Given the description of an element on the screen output the (x, y) to click on. 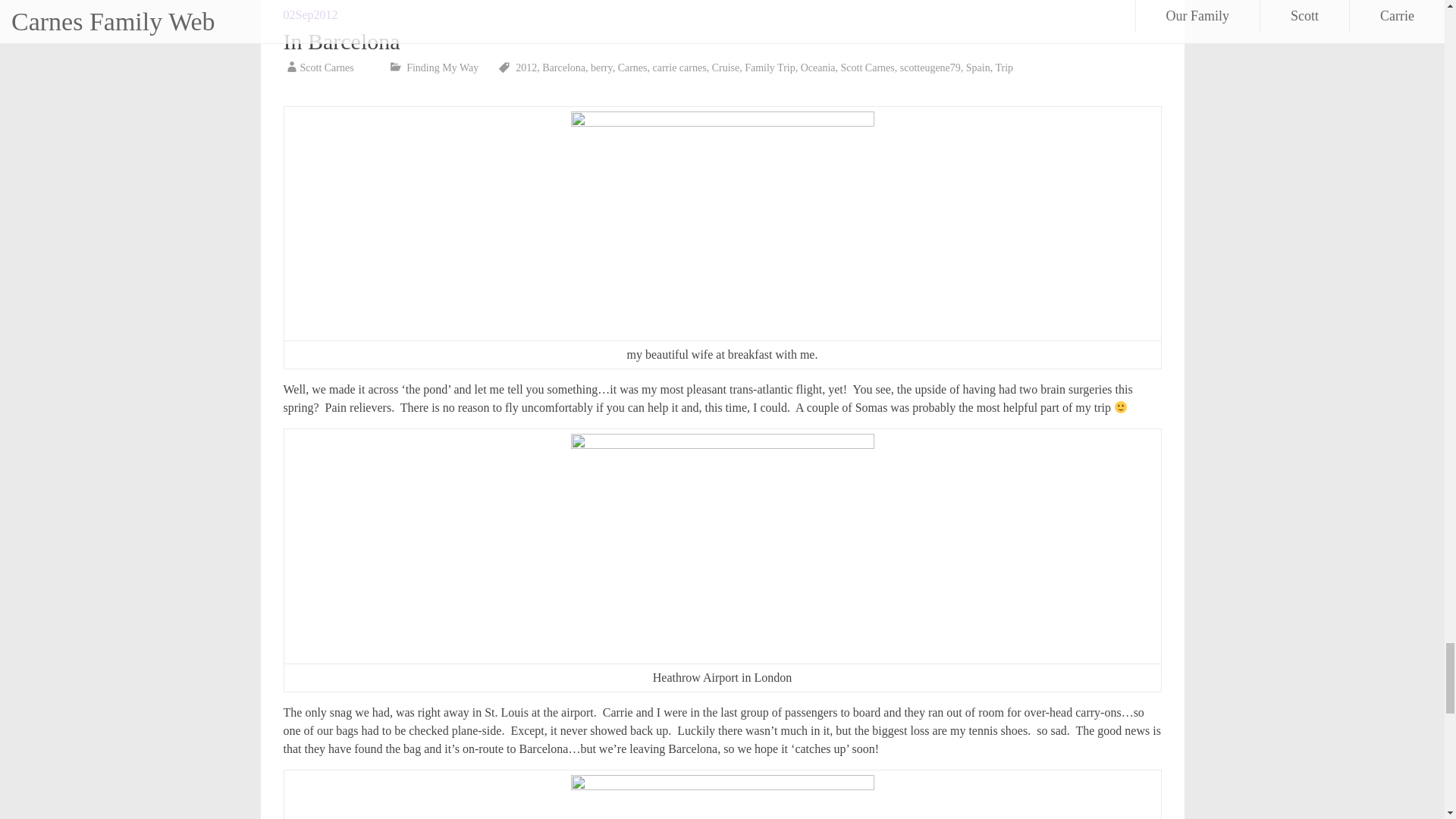
5:30 pm (310, 14)
